Given the description of an element on the screen output the (x, y) to click on. 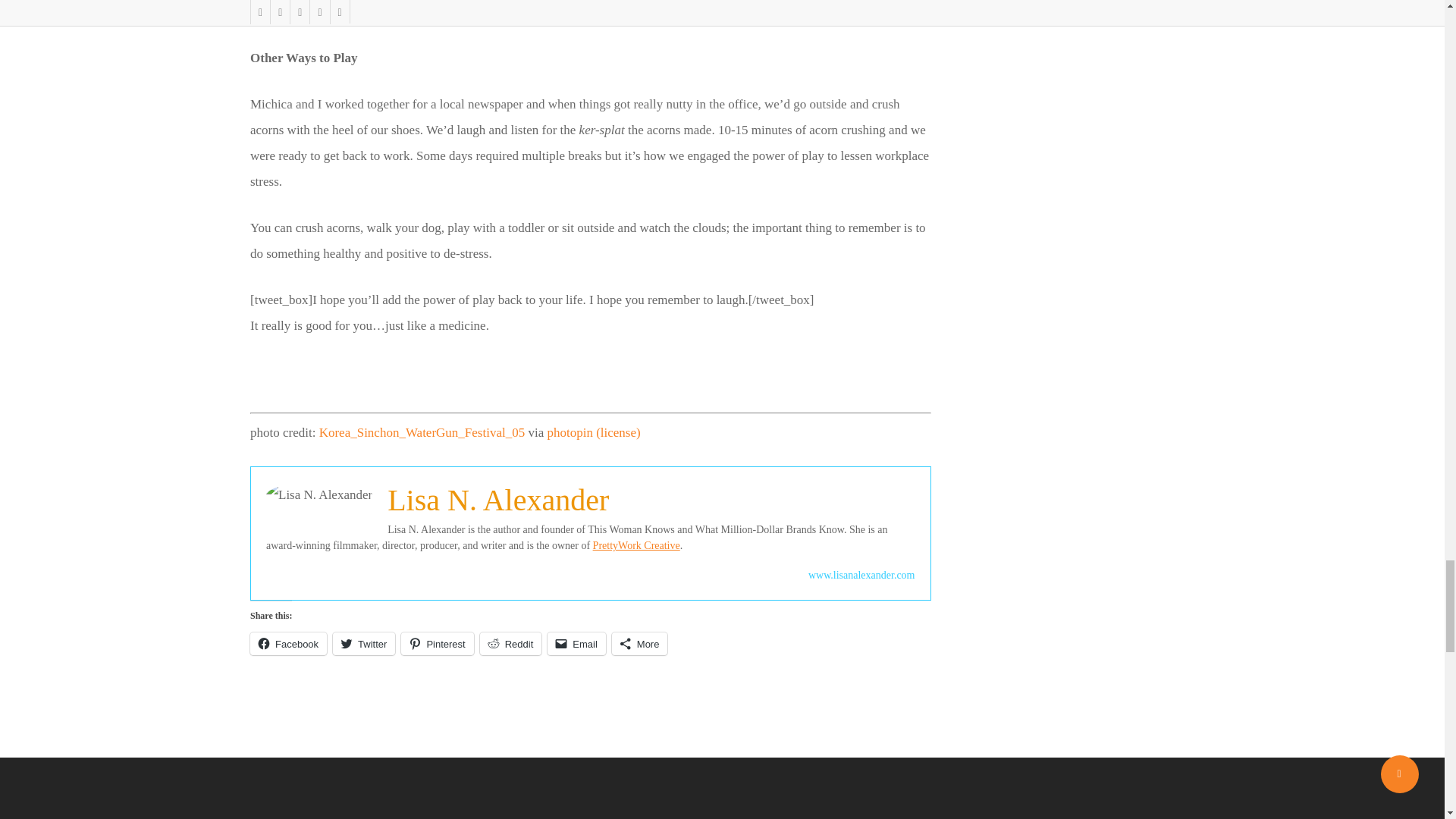
Twitter (363, 643)
Click to share on Twitter (363, 643)
Click to share on Facebook (288, 643)
Click to share on Reddit (510, 643)
Lisa N. Alexander (497, 499)
PrettyWork Creative (635, 545)
Facebook (288, 643)
Click to email a link to a friend (576, 643)
photopin (569, 432)
www.lisanalexander.com (861, 574)
